Given the description of an element on the screen output the (x, y) to click on. 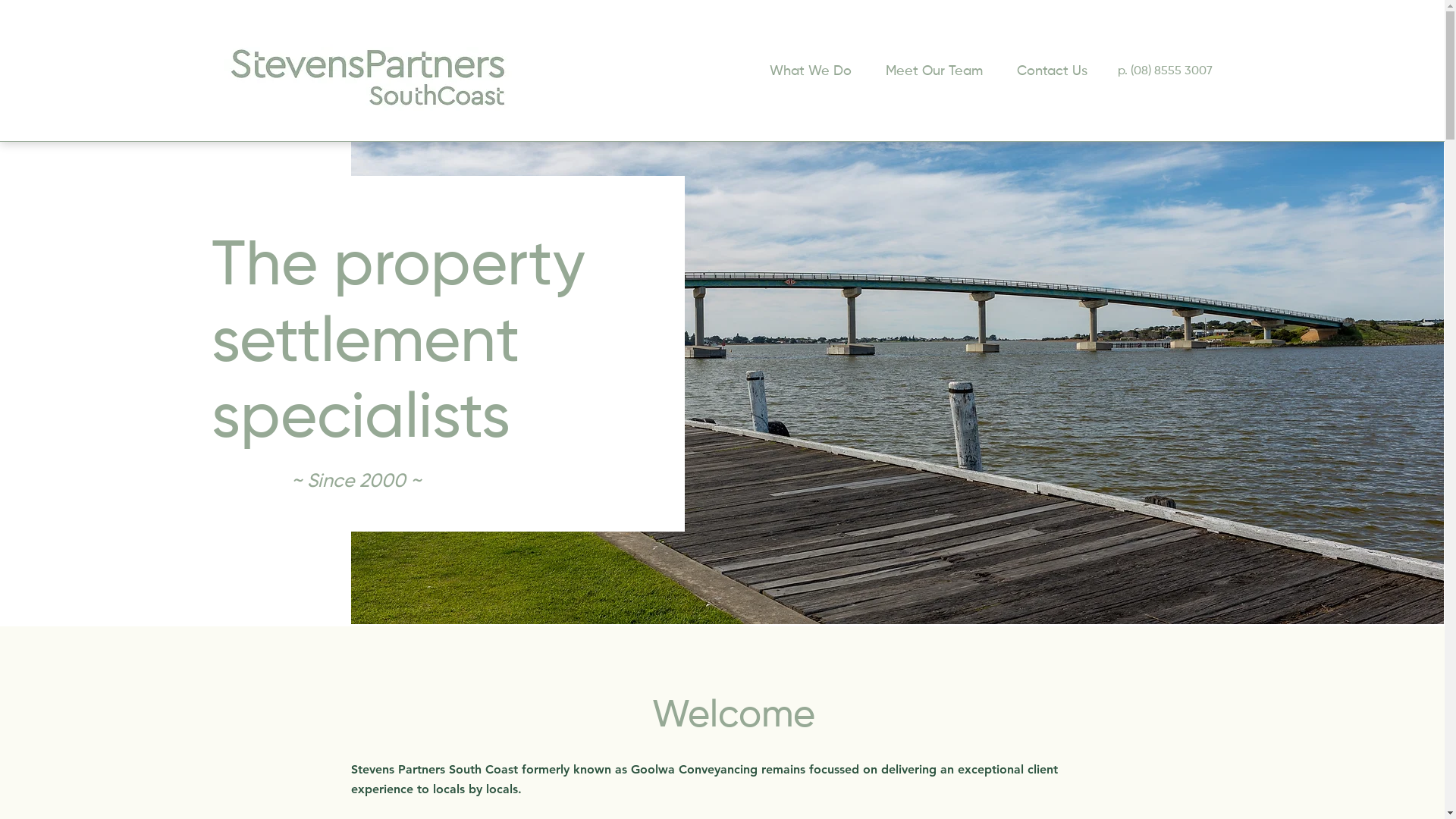
Meet Our Team Element type: text (934, 71)
Contact Us Element type: text (1051, 71)
What We Do Element type: text (810, 71)
p. (08) 8555 3007 Element type: text (1164, 71)
